Given the description of an element on the screen output the (x, y) to click on. 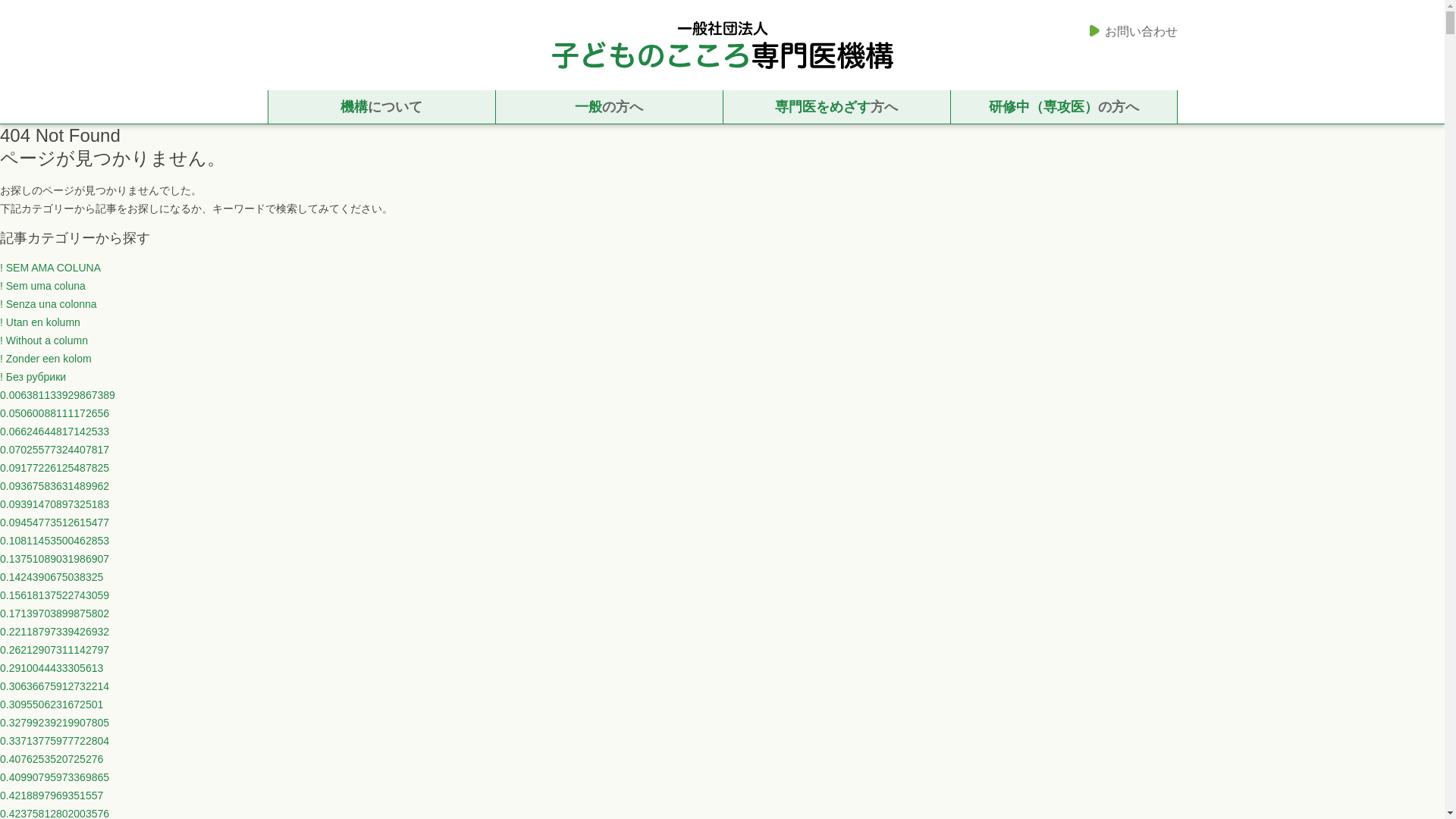
0.09391470897325183 (54, 503)
! Senza una colonna (48, 304)
0.07025577324407817 (54, 449)
! Zonder een kolom (45, 358)
0.06624644817142533 (54, 431)
0.10811453500462853 (54, 540)
! Without a column (43, 340)
! SEM AMA COLUNA (50, 267)
0.09454773512615477 (54, 522)
0.09177226125487825 (54, 467)
! Utan en kolumn (40, 322)
0.05060088111172656 (54, 413)
0.09367583631489962 (54, 485)
0.006381133929867389 (57, 395)
! Sem uma coluna (42, 285)
